Given the description of an element on the screen output the (x, y) to click on. 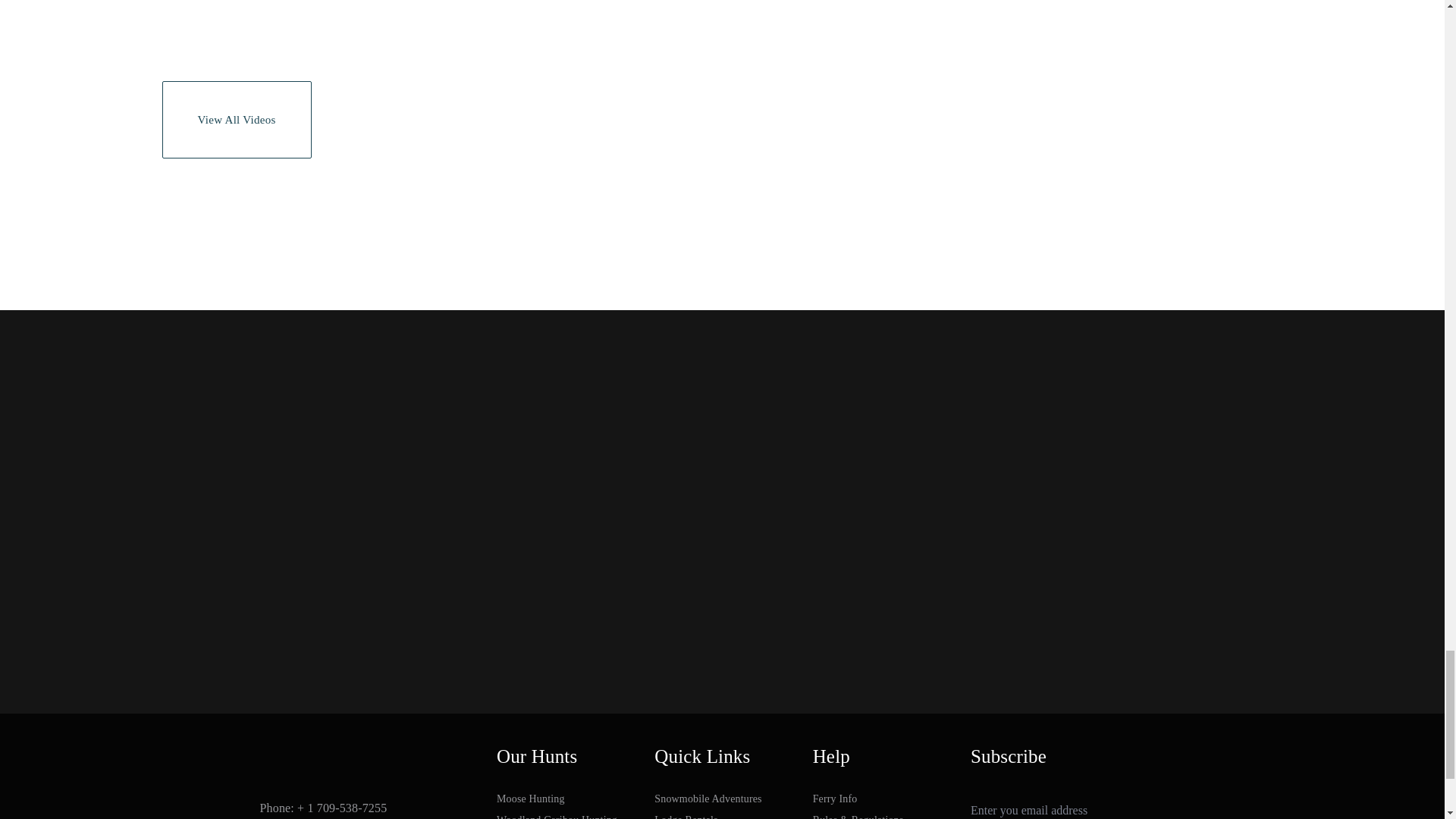
Woodland Caribou Hunting (563, 814)
Moose Hunting (563, 798)
Video Gallery (236, 119)
View All Videos (236, 119)
